Given the description of an element on the screen output the (x, y) to click on. 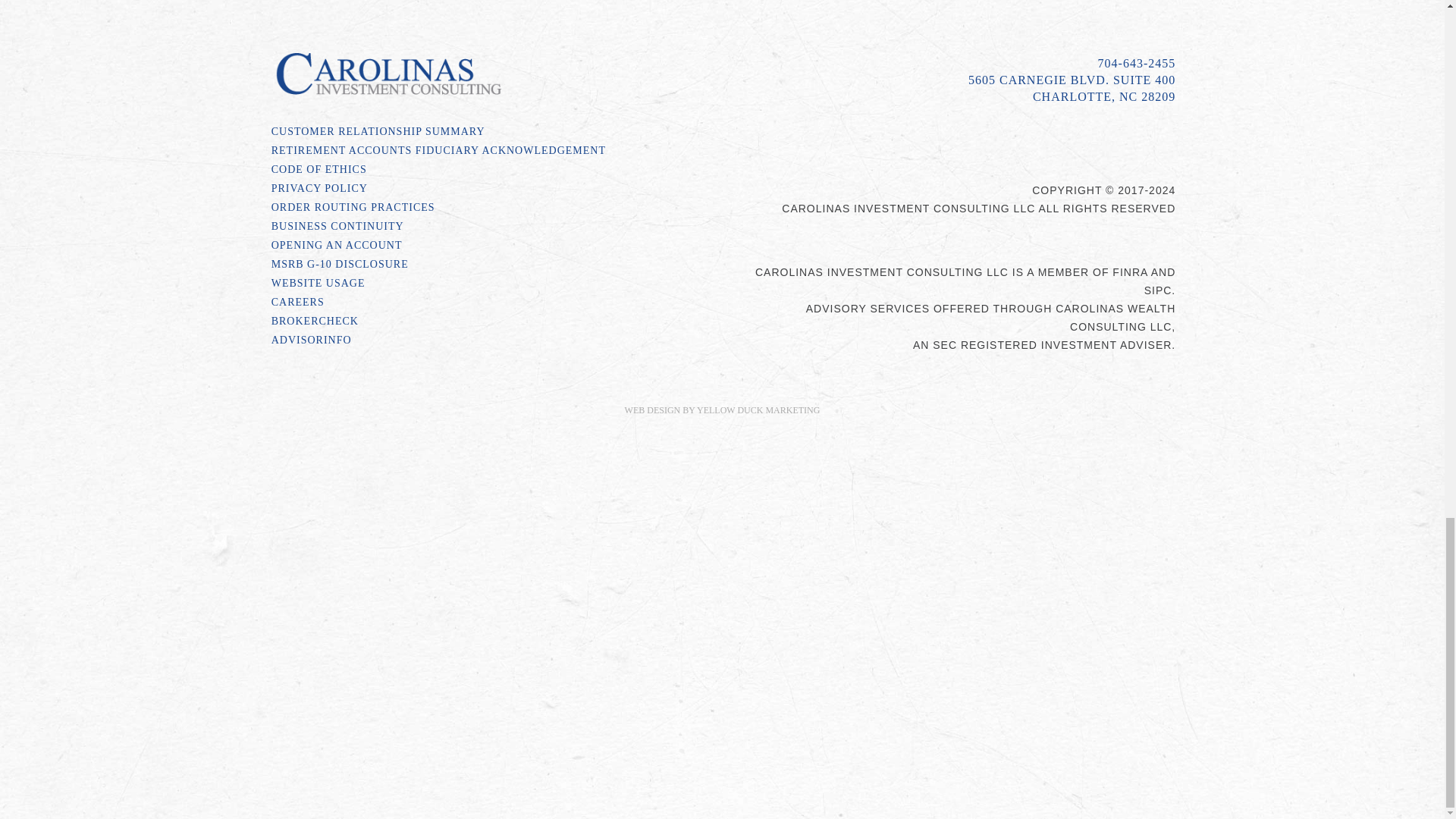
704-643-2455 (1136, 62)
MSRB G-10 DISCLOSURE (491, 266)
CUSTOMER RELATIONSHIP SUMMARY (491, 134)
OPENING AN ACCOUNT (491, 248)
CODE OF ETHICS (491, 171)
SIPC (1158, 290)
BUSINESS CONTINUITY (491, 229)
FINRA (1129, 272)
RETIREMENT ACCOUNTS FIDUCIARY ACKNOWLEDGEMENT (491, 153)
ORDER ROUTING PRACTICES (491, 210)
CAREERS (491, 304)
PRIVACY POLICY (491, 190)
BROKERCHECK (491, 323)
ADVISORINFO (491, 342)
WEBSITE USAGE (491, 285)
